Given the description of an element on the screen output the (x, y) to click on. 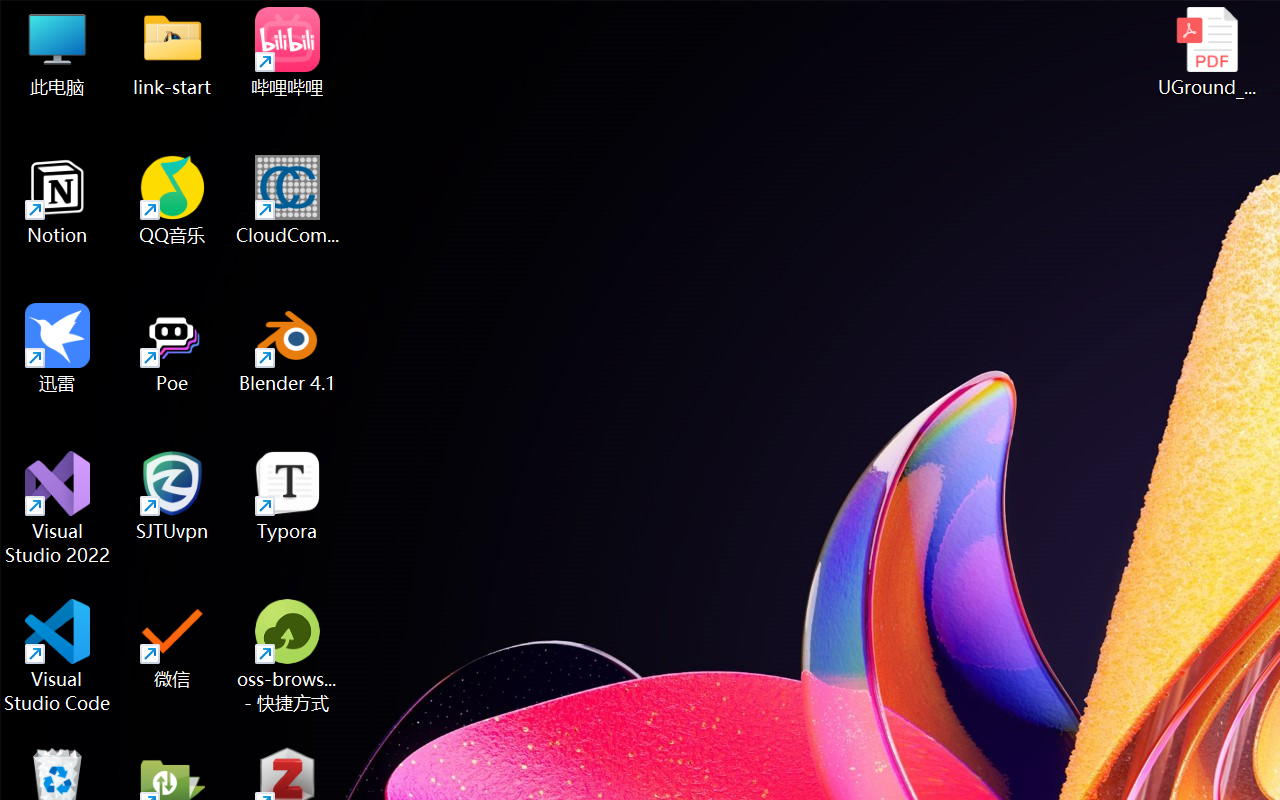
Visual Studio 2022 (57, 508)
SJTUvpn (172, 496)
CloudCompare (287, 200)
Blender 4.1 (287, 348)
UGround_paper.pdf (1206, 52)
Typora (287, 496)
Visual Studio Code (57, 656)
